Given the description of an element on the screen output the (x, y) to click on. 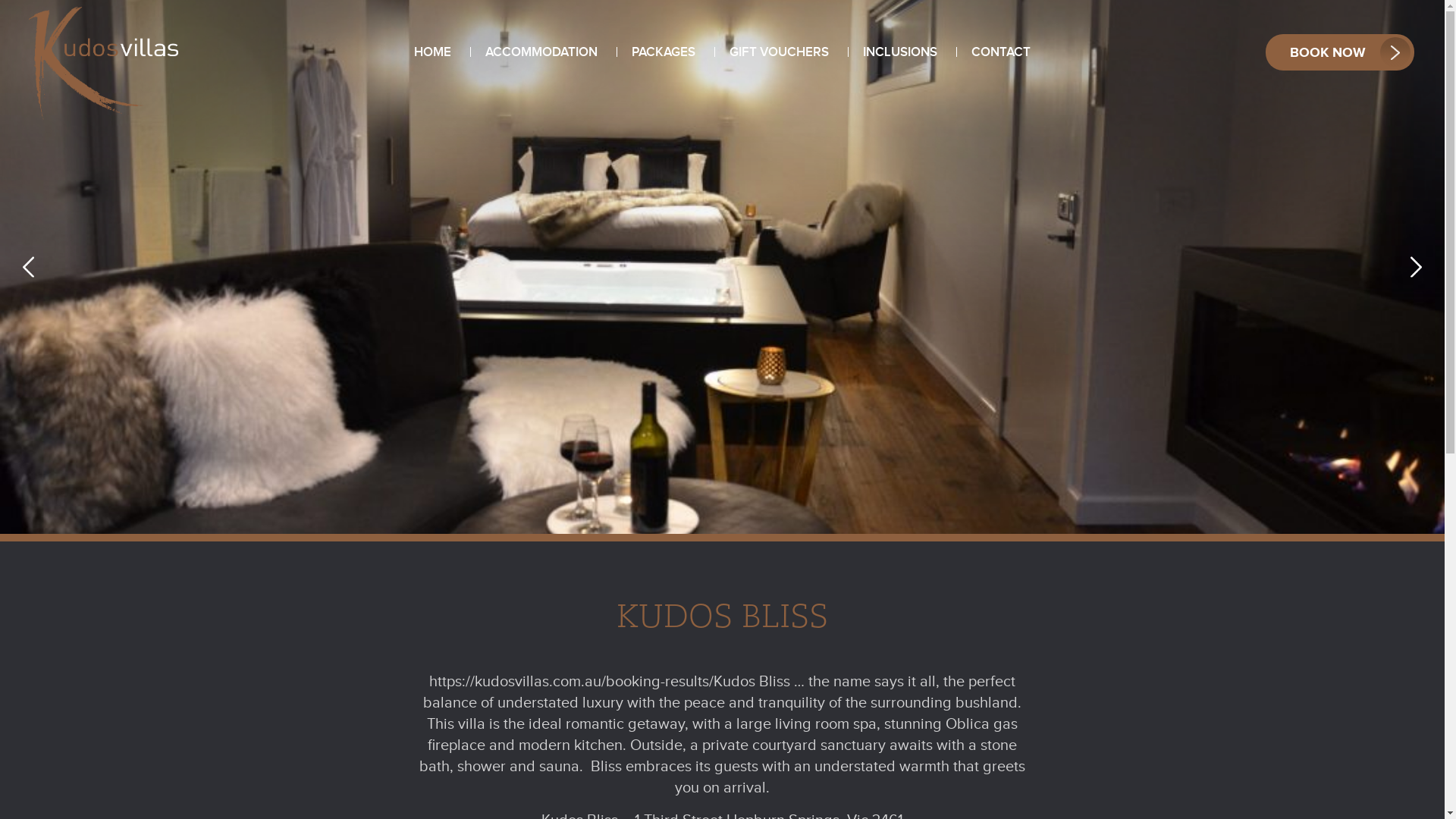
BOOK NOW Element type: text (1339, 52)
HOME Element type: text (432, 51)
PACKAGES Element type: text (663, 51)
Next Element type: text (1415, 266)
CONTACT Element type: text (1000, 51)
ACCOMMODATION Element type: text (541, 51)
Prev Element type: text (28, 266)
INCLUSIONS Element type: text (899, 51)
GIFT VOUCHERS Element type: text (778, 51)
